Given the description of an element on the screen output the (x, y) to click on. 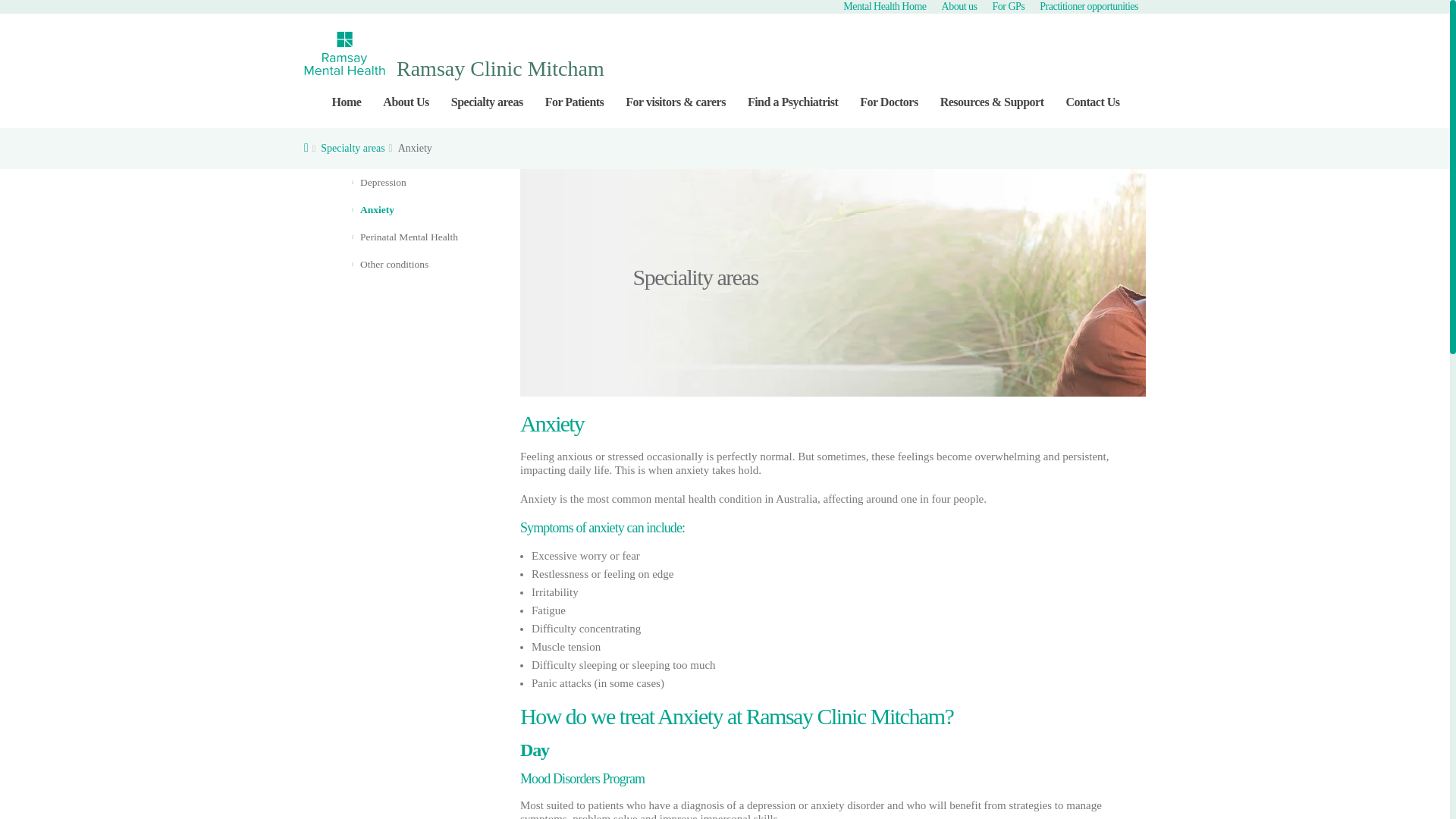
Practitioner opportunities (1088, 10)
Depression (400, 182)
About us (959, 10)
Mental Health Home (884, 10)
Specialty areas (486, 102)
For GPs (1008, 10)
For Patients (574, 102)
Find a Psychiatrist (791, 102)
About Us (405, 102)
Contact Us (1092, 102)
